Given the description of an element on the screen output the (x, y) to click on. 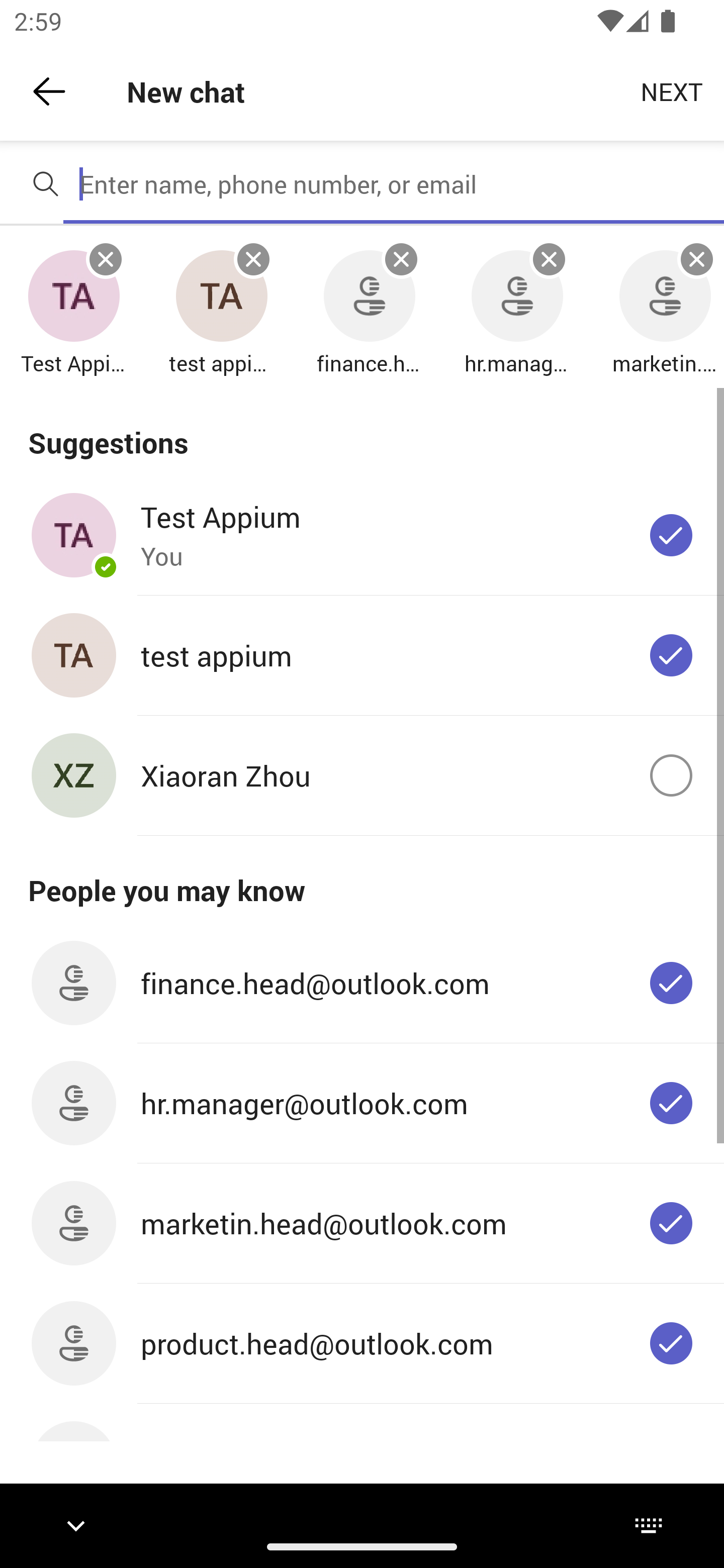
Back (49, 91)
NEXT (671, 90)
Enter name, phone number, or email (393, 184)
Remove (105, 259)
Remove (252, 259)
Remove (400, 259)
Remove (548, 259)
Remove (696, 259)
Test Appium profile picture (73, 295)
test appium profile picture (221, 295)
finance.head@outlook.com profile picture (369, 295)
hr.manager@outlook.com profile picture (517, 295)
marketin.head@outlook.com profile picture (664, 295)
Suggestions section header Suggestions (362, 431)
